Given the description of an element on the screen output the (x, y) to click on. 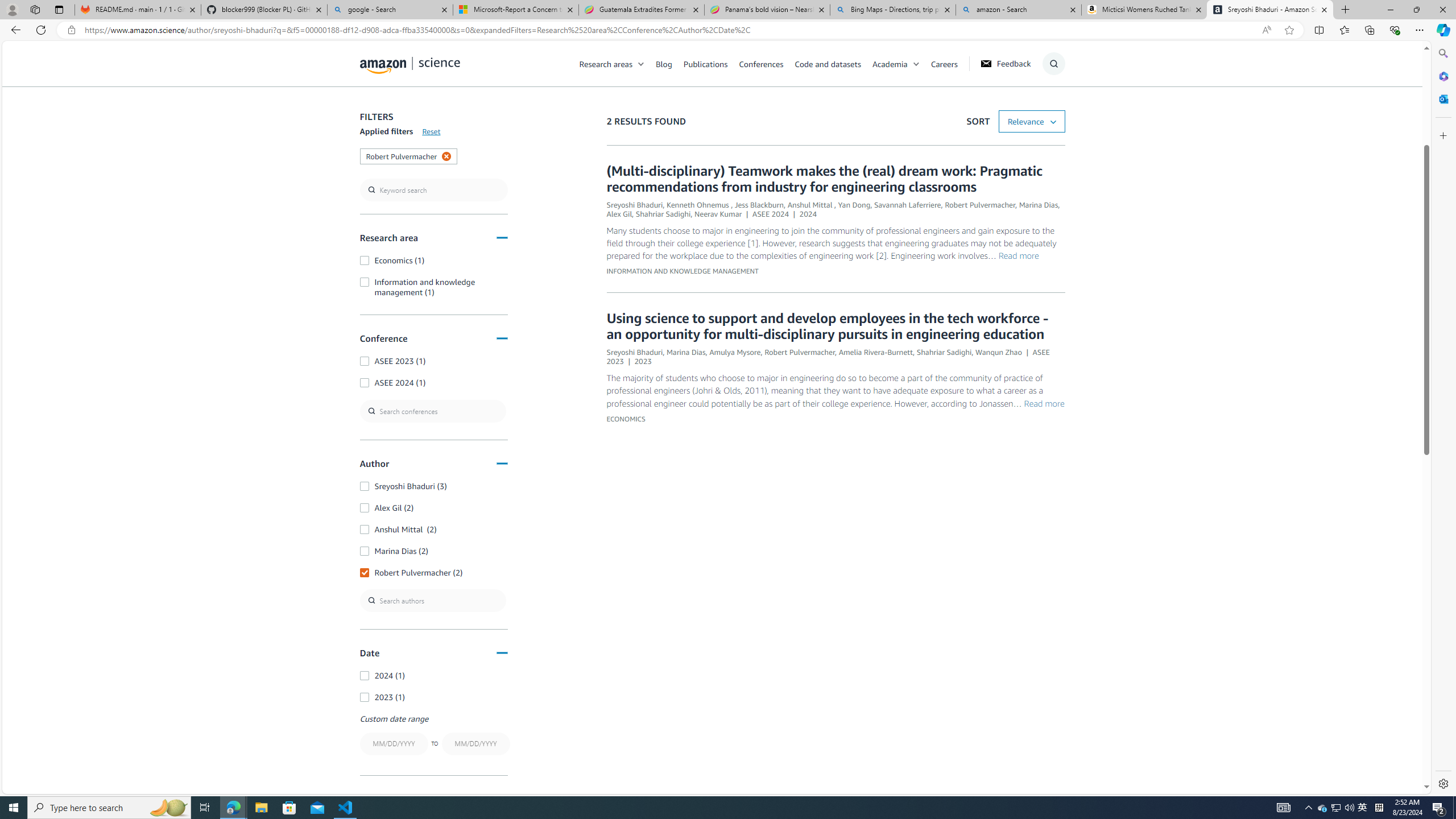
mm/dd/yyyy (475, 743)
ECONOMICS (625, 418)
Blog (663, 63)
Wanqun Zhao (998, 352)
